Given the description of an element on the screen output the (x, y) to click on. 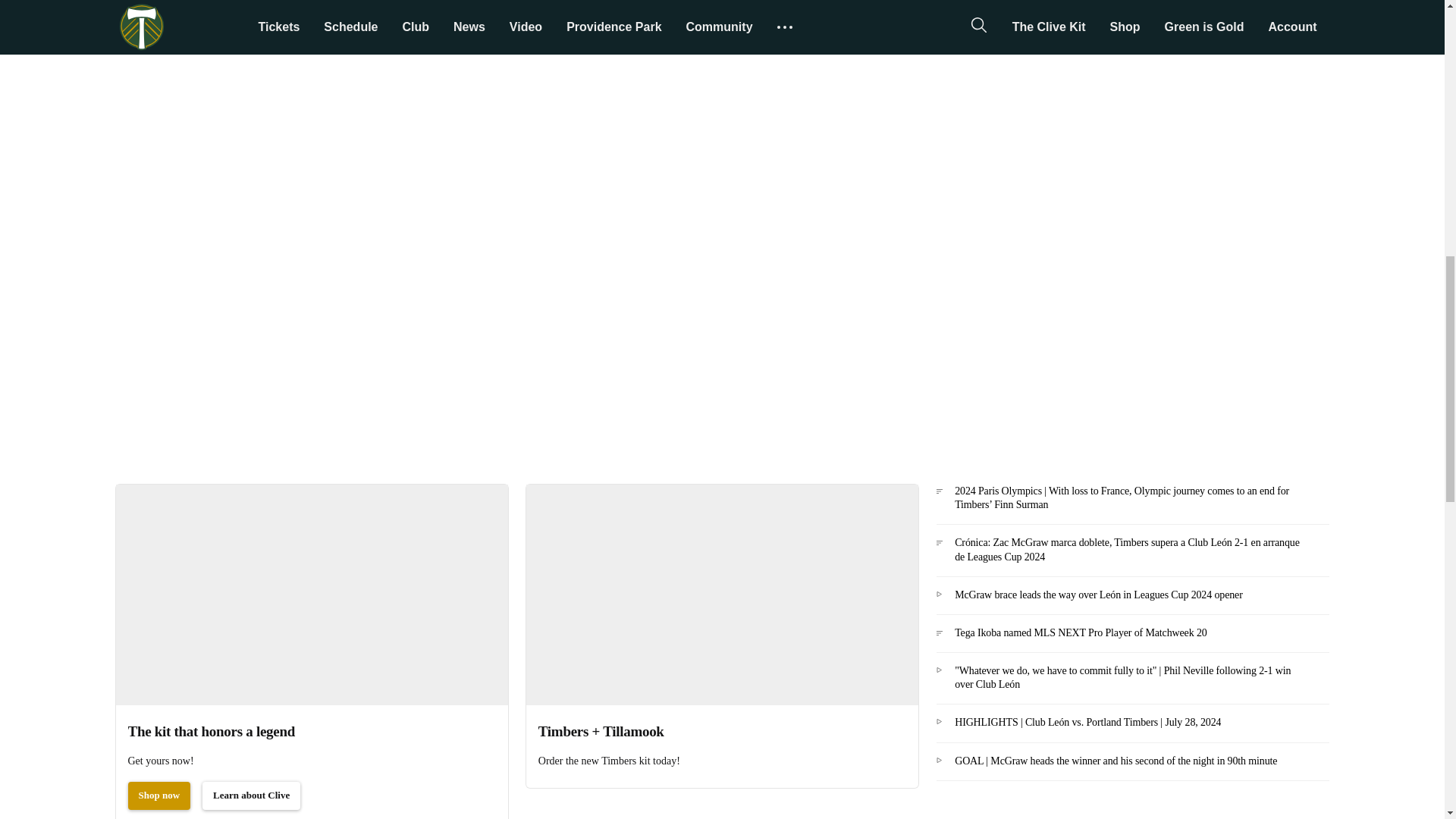
Learn about Clive (250, 795)
Shop now (159, 795)
Tega Ikoba named MLS NEXT Pro Player of Matchweek 20 (1131, 638)
